Given the description of an element on the screen output the (x, y) to click on. 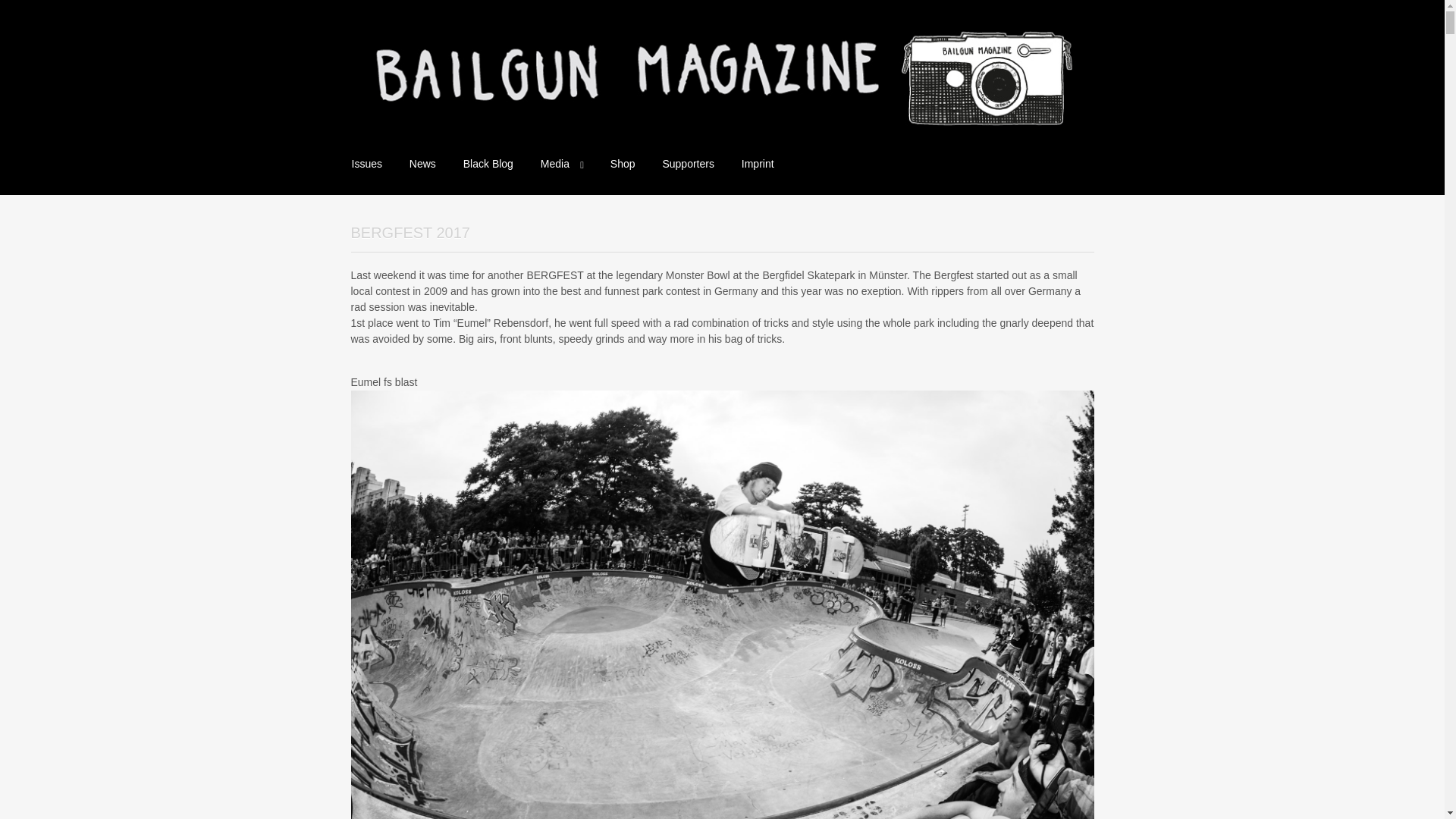
Black Blog (488, 164)
News (422, 164)
Issues (366, 164)
Supporters (687, 164)
BERGFEST 2017 (409, 232)
Media (561, 164)
Shop (623, 164)
Skip to content (351, 155)
Imprint (757, 164)
